Given the description of an element on the screen output the (x, y) to click on. 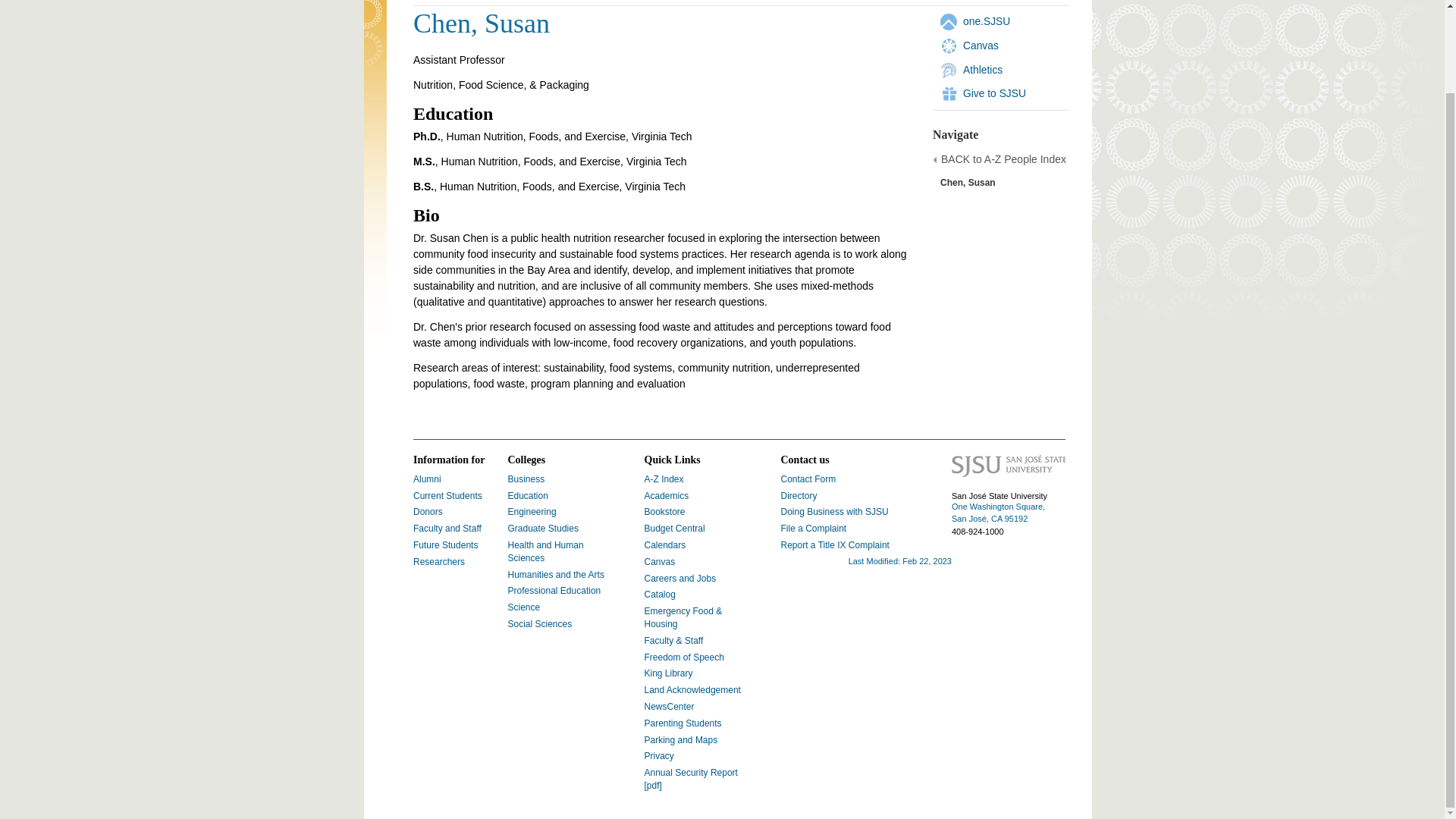
Faculty and Staff (447, 528)
Business (526, 479)
Donors (427, 511)
Researchers (438, 561)
Budget Central (674, 528)
BACK to A-Z People Index (1002, 160)
Professional Education (554, 590)
A-Z Index (664, 479)
Catalog (660, 593)
Current Students (447, 495)
Freedom of Speech (684, 656)
one.SJSU (986, 21)
Bookstore (665, 511)
King Library (669, 673)
Humanities and the Arts (556, 574)
